Given the description of an element on the screen output the (x, y) to click on. 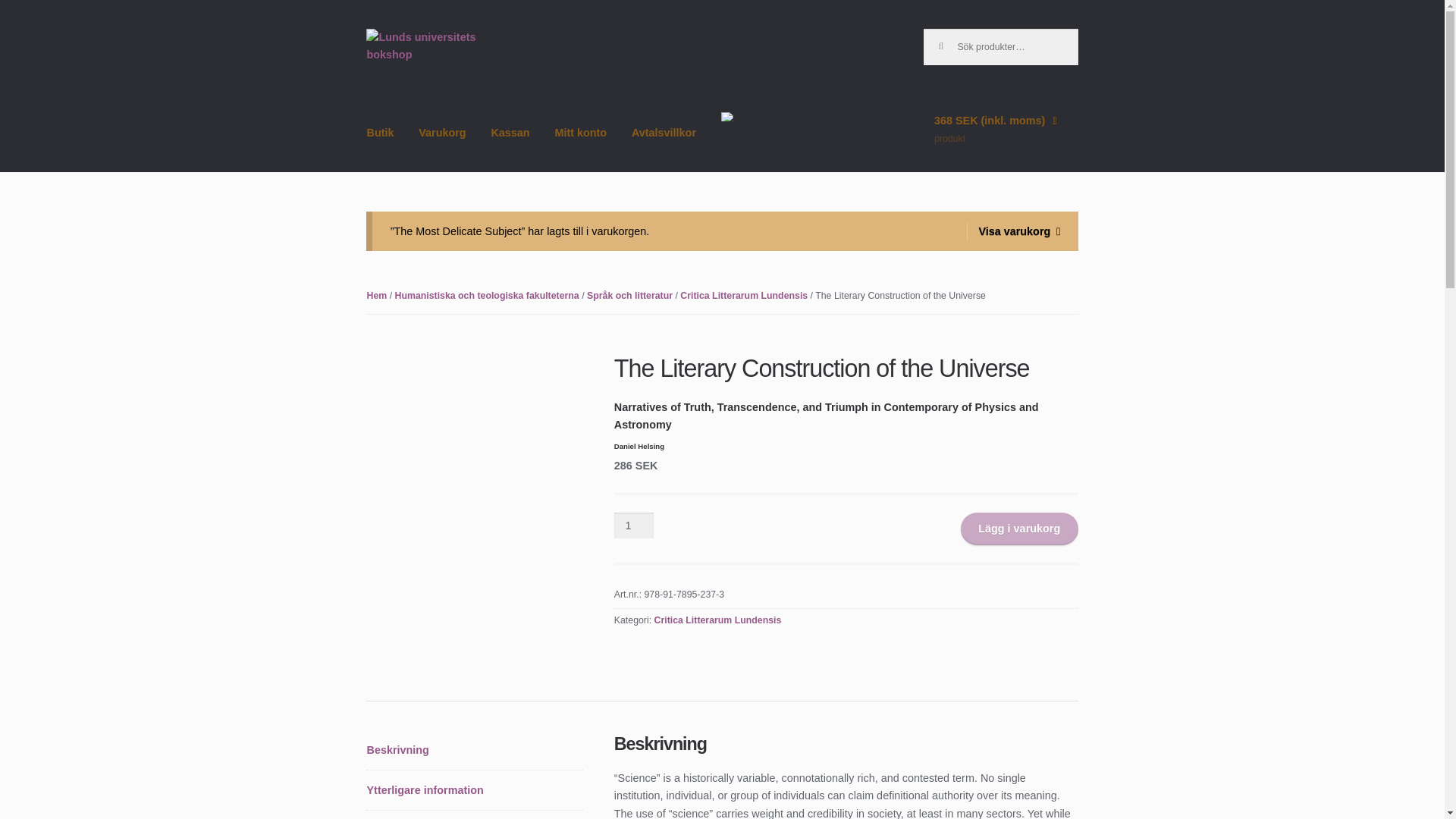
Ytterligare information (474, 789)
Critica Litterarum Lundensis (743, 295)
Beskrivning (474, 749)
Critica Litterarum Lundensis (717, 620)
Titta i varukorgen (1000, 141)
Avtalsvillkor (664, 145)
Humanistiska och teologiska fakulteterna (486, 295)
Varukorg (442, 145)
Butik (379, 145)
